Given the description of an element on the screen output the (x, y) to click on. 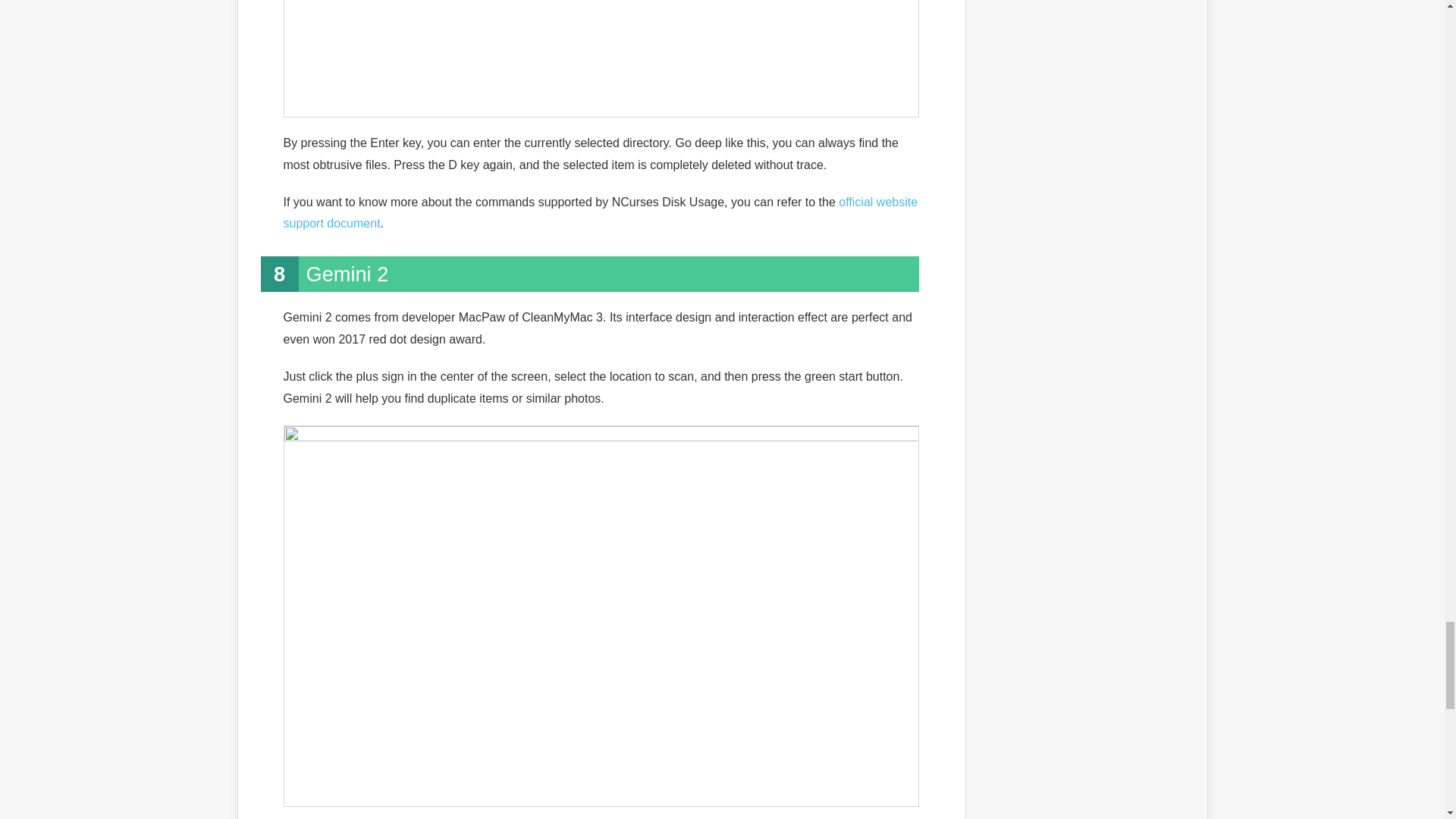
official website support document (600, 212)
